Given the description of an element on the screen output the (x, y) to click on. 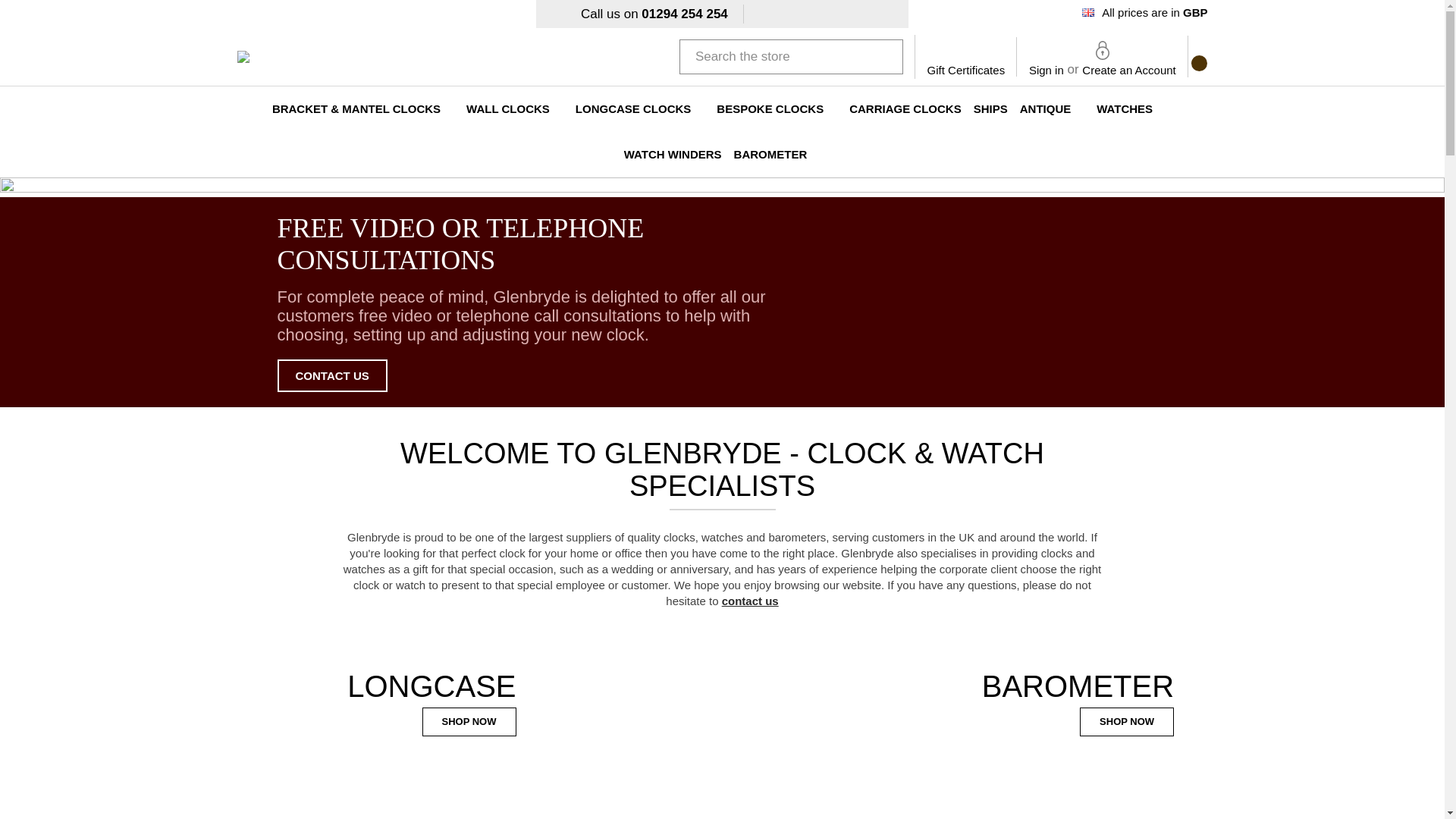
Search (883, 56)
01294 254 254 (684, 13)
WALL CLOCKS (514, 108)
All prices are in GBP (1144, 13)
Create an Account (1127, 69)
Gift Certificates (966, 56)
Search (883, 56)
Sign in (1046, 69)
01294 254 254 (684, 13)
LONGCASE CLOCKS (639, 108)
